Given the description of an element on the screen output the (x, y) to click on. 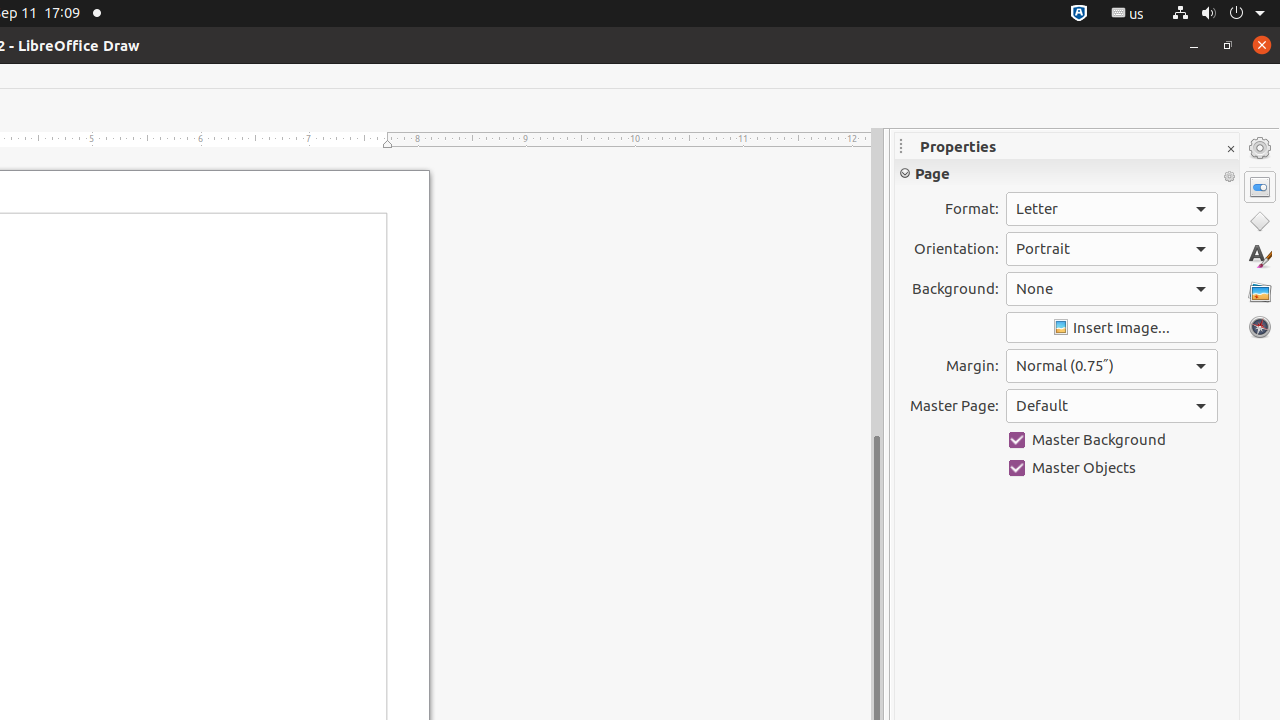
Background: Element type: combo-box (1112, 289)
Styles Element type: radio-button (1260, 256)
